Given the description of an element on the screen output the (x, y) to click on. 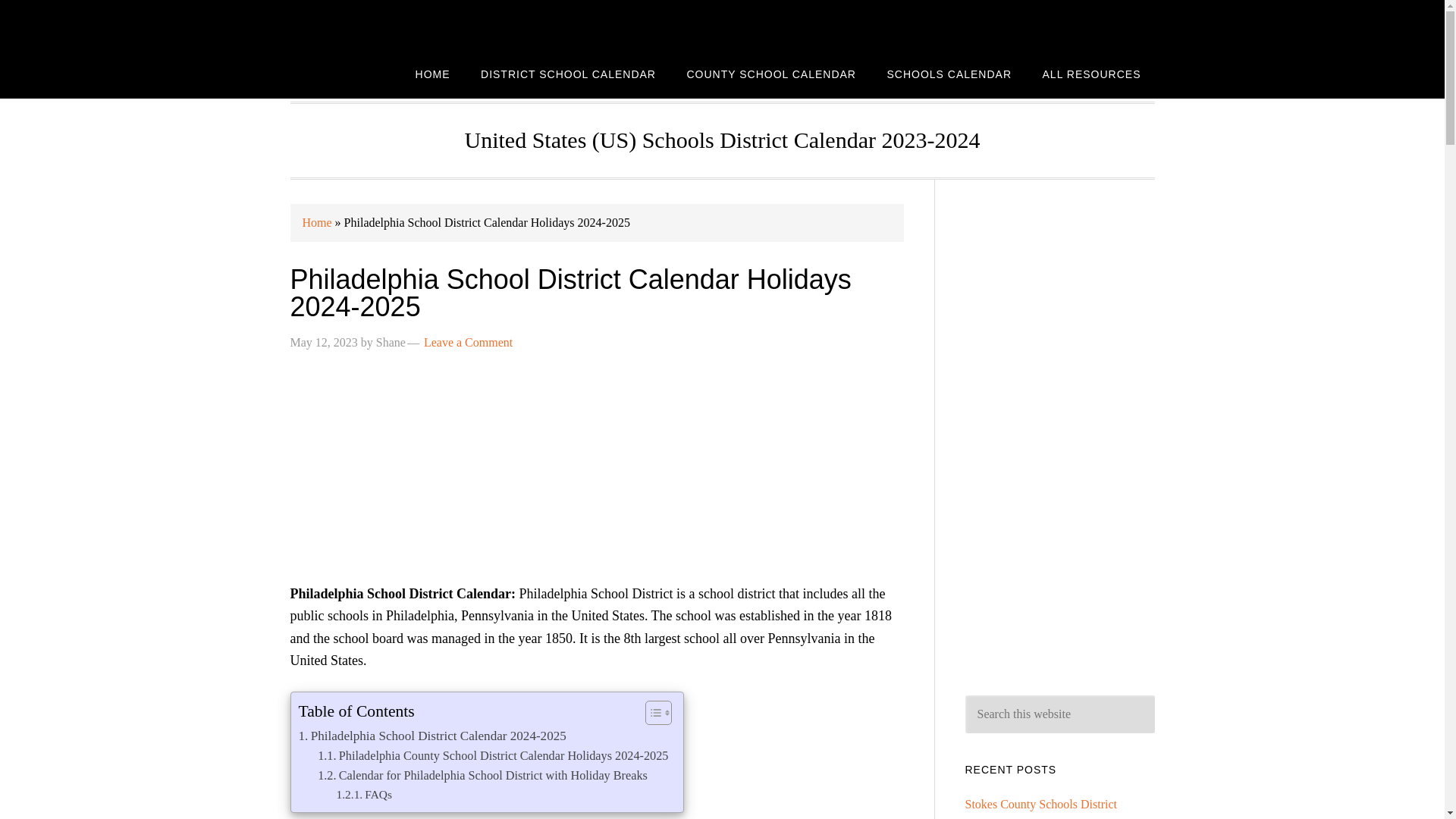
SCHOOL DISTRICT CALENDAR (410, 24)
HOME (432, 73)
Advertisement (595, 477)
DISTRICT SCHOOL CALENDAR (568, 73)
FAQs (364, 794)
Philadelphia School District Calendar 2024-2025 (432, 735)
